Given the description of an element on the screen output the (x, y) to click on. 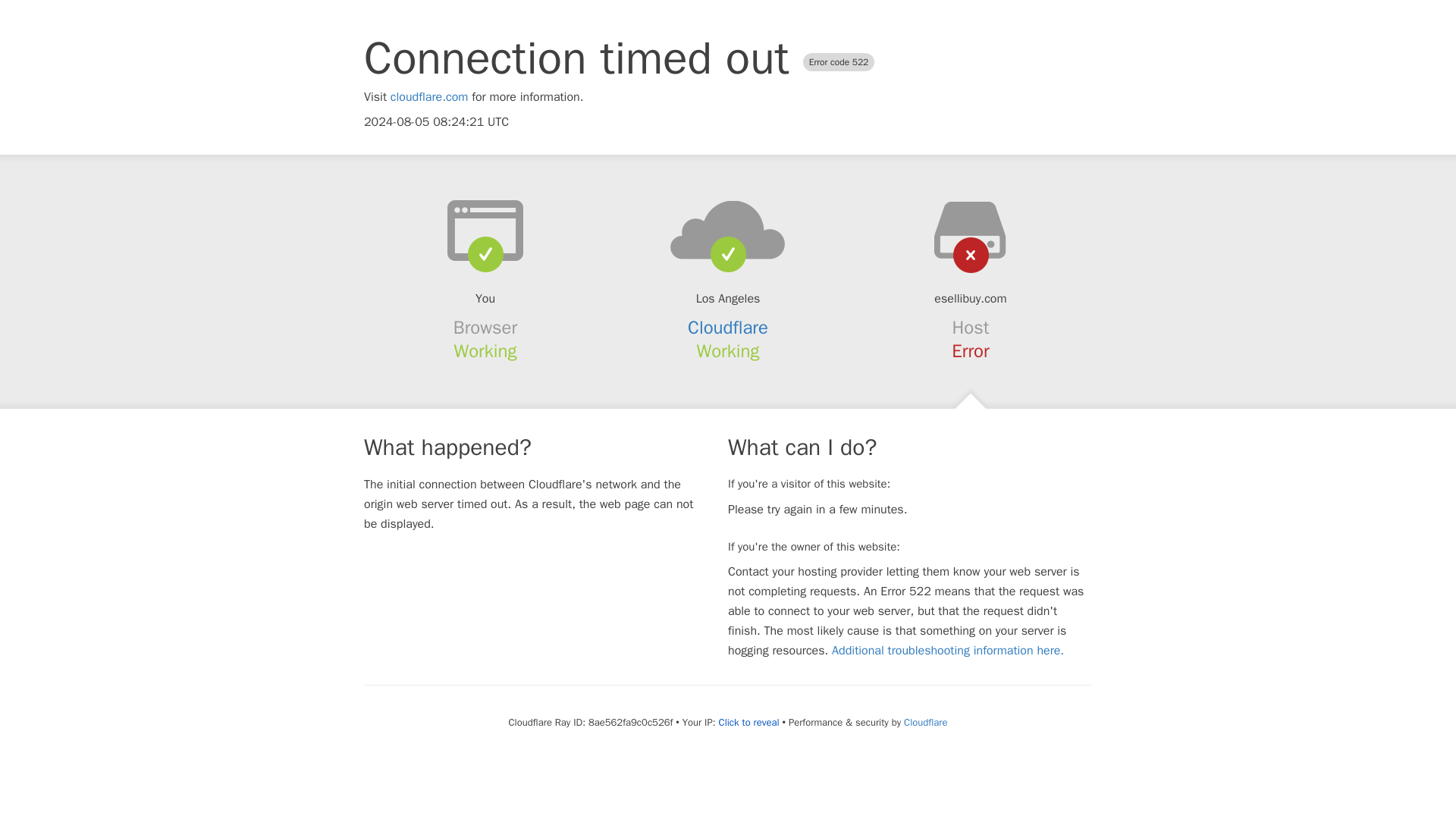
Cloudflare (727, 327)
cloudflare.com (429, 96)
Additional troubleshooting information here. (947, 650)
Cloudflare (925, 721)
Click to reveal (748, 722)
